Given the description of an element on the screen output the (x, y) to click on. 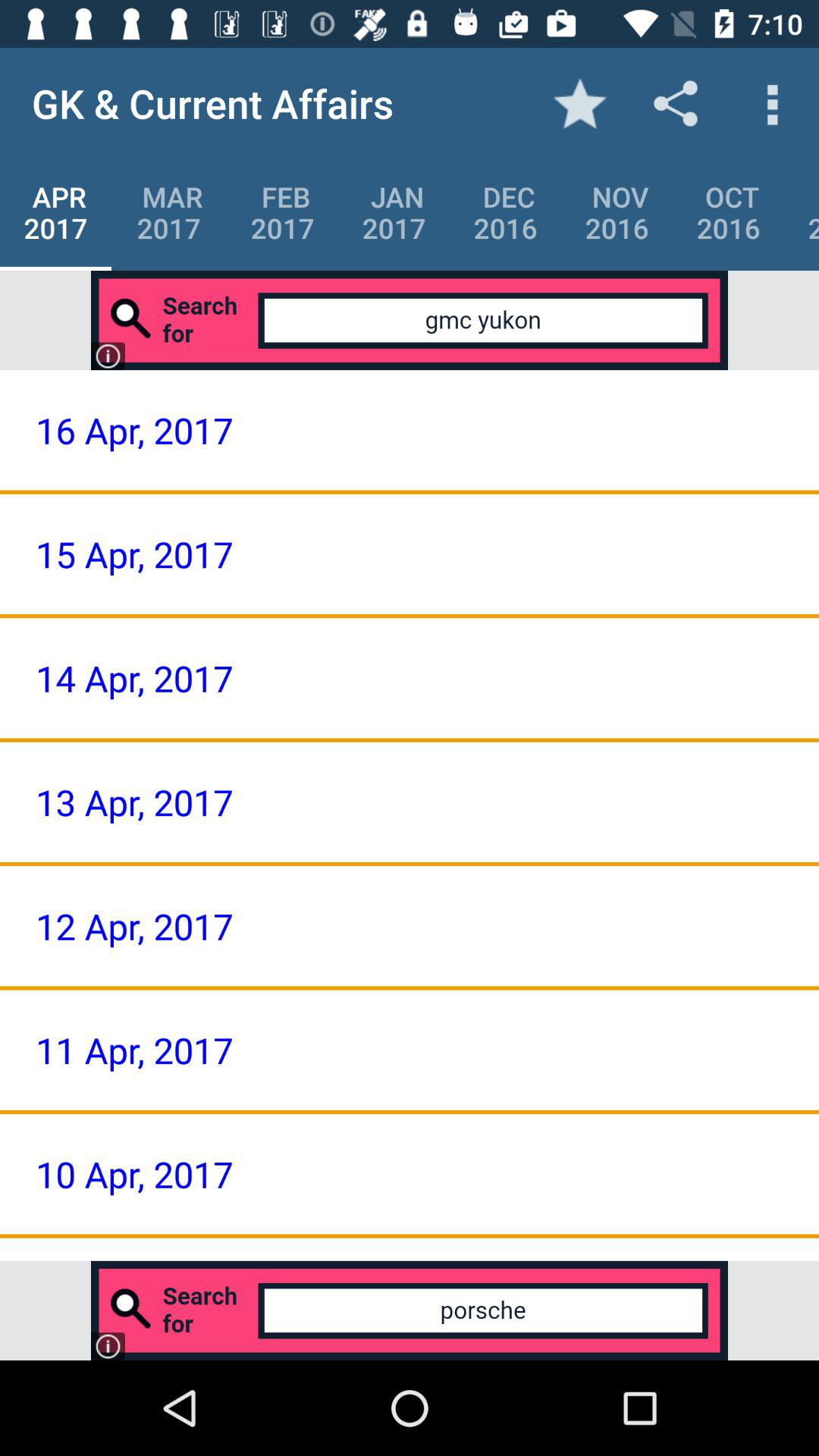
turn on the  nov
2016 item (616, 212)
